Given the description of an element on the screen output the (x, y) to click on. 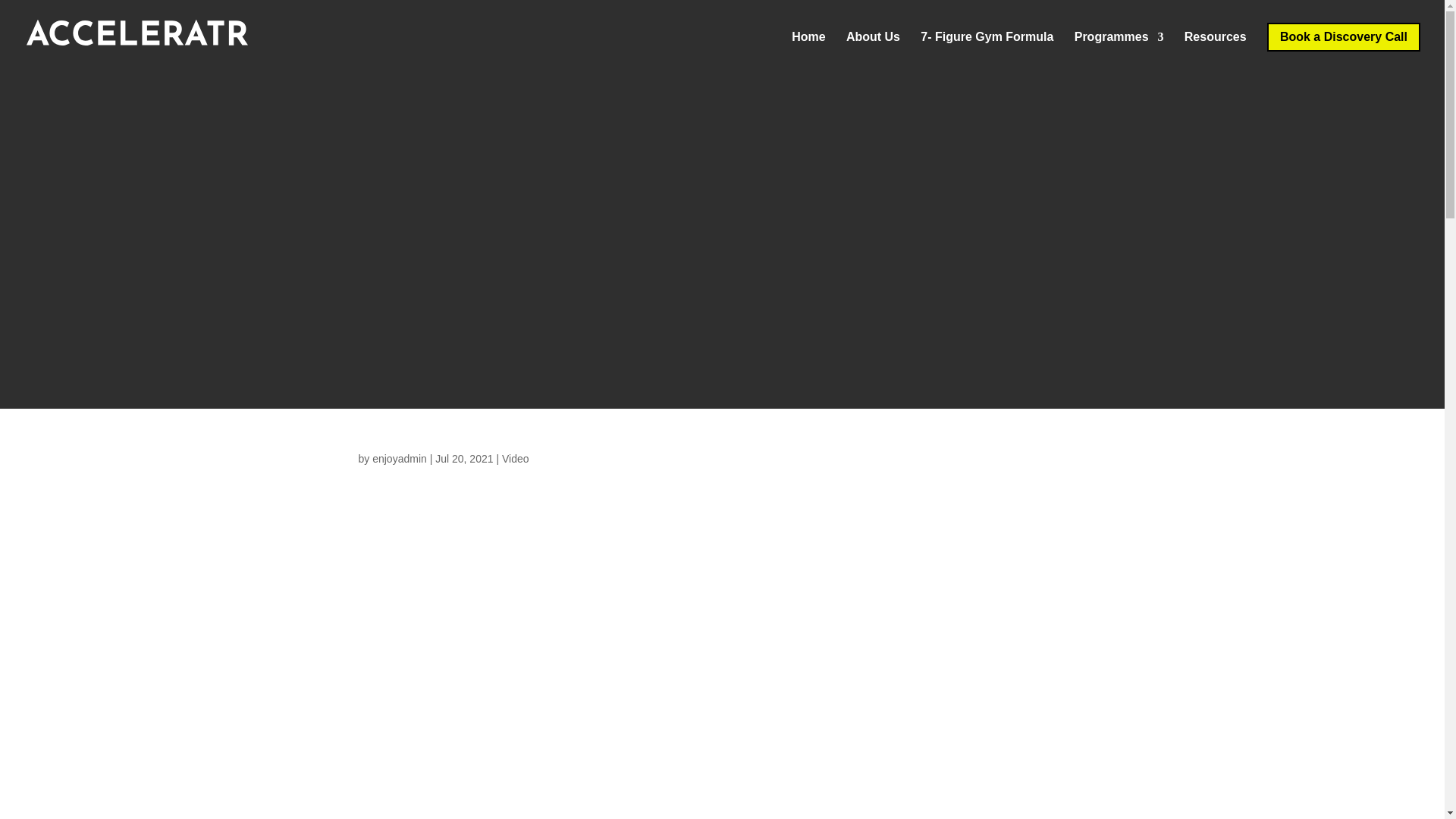
enjoyadmin (399, 458)
Video (515, 458)
Home (808, 48)
7- Figure Gym Formula (986, 48)
Resources (1215, 48)
About Us (872, 48)
Posts by enjoyadmin (399, 458)
Programmes (1118, 48)
Book a Discovery Call (1343, 36)
